Given the description of an element on the screen output the (x, y) to click on. 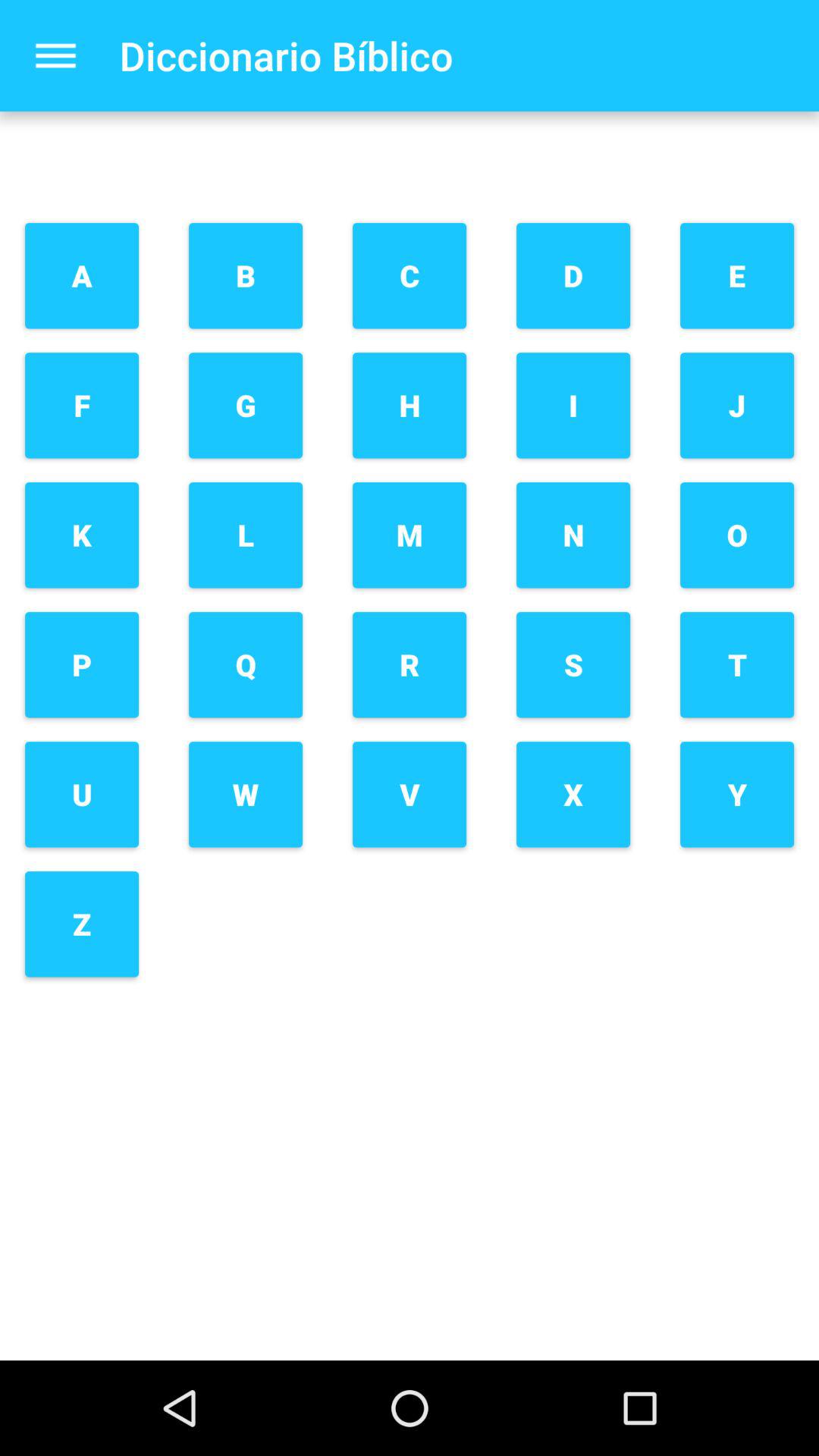
launch button above x button (573, 664)
